Given the description of an element on the screen output the (x, y) to click on. 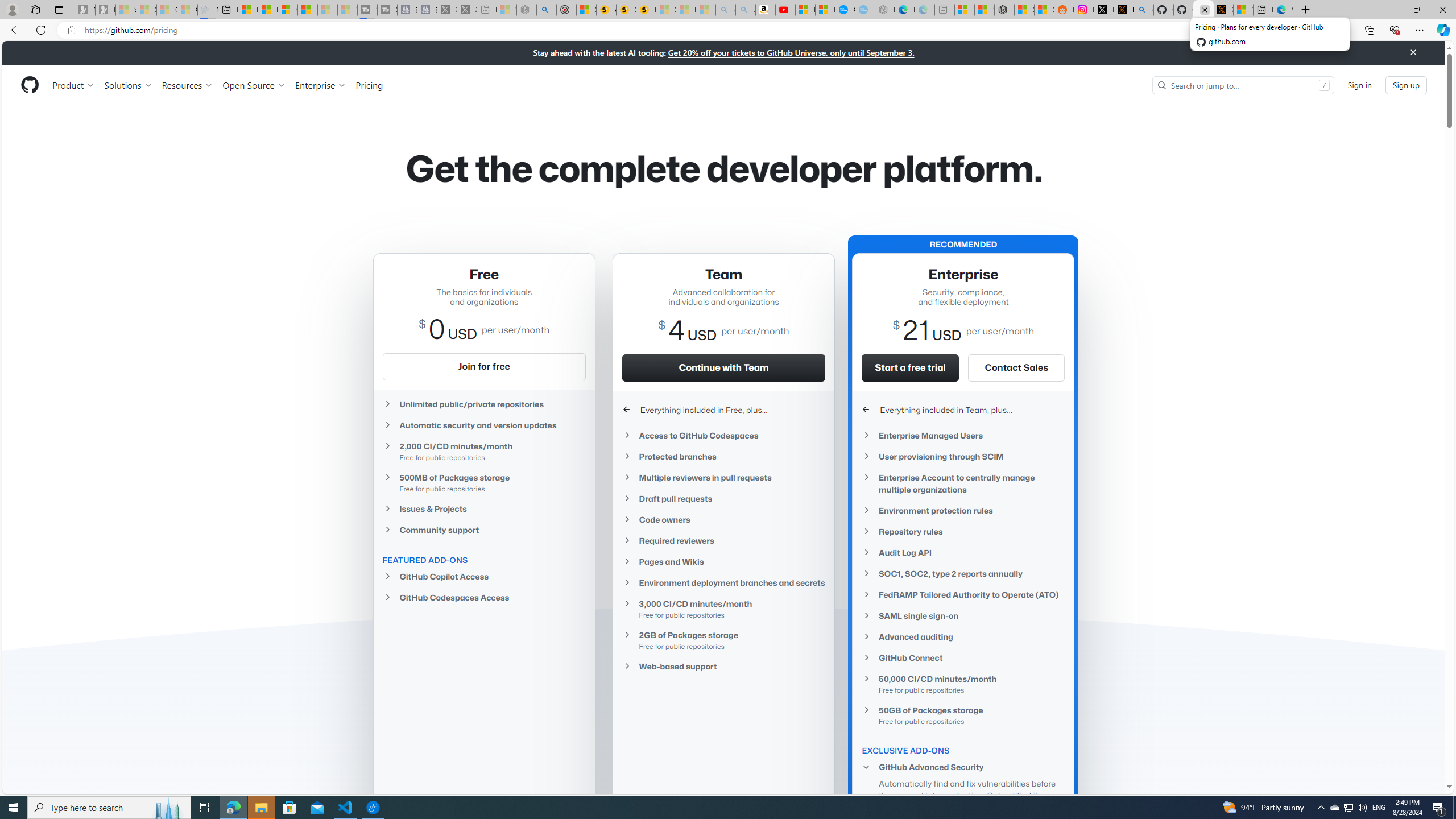
SOC1, SOC2, type 2 reports annually (963, 573)
X Privacy Policy (1222, 9)
Enterprise (319, 84)
Environment deployment branches and secrets (723, 582)
Code owners (723, 519)
poe - Search (546, 9)
App available. Install GitHub (1268, 29)
User provisioning through SCIM (963, 456)
